Given the description of an element on the screen output the (x, y) to click on. 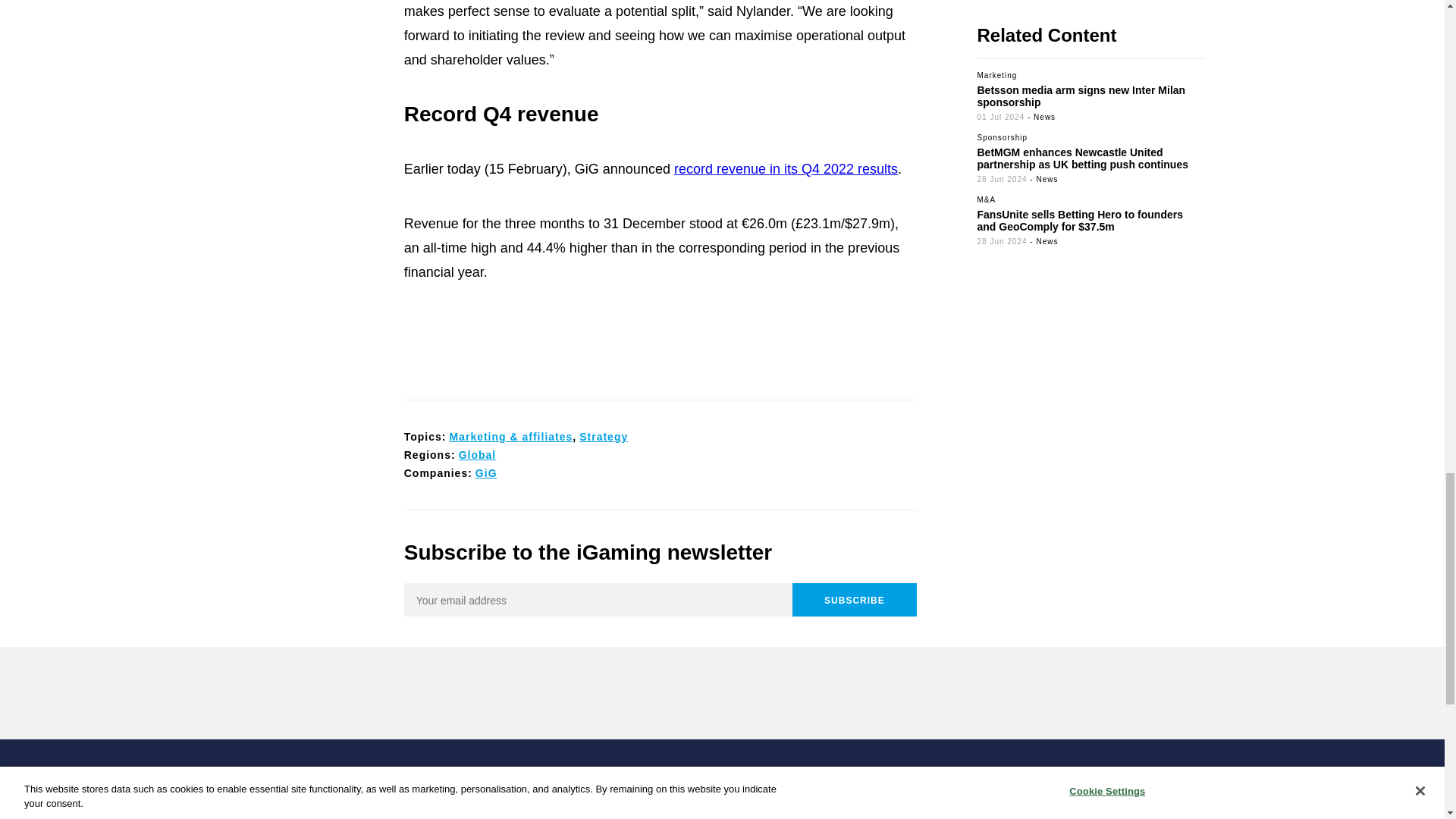
Subscribe (853, 599)
3rd party ad content (721, 693)
3rd party ad content (659, 344)
